Given the description of an element on the screen output the (x, y) to click on. 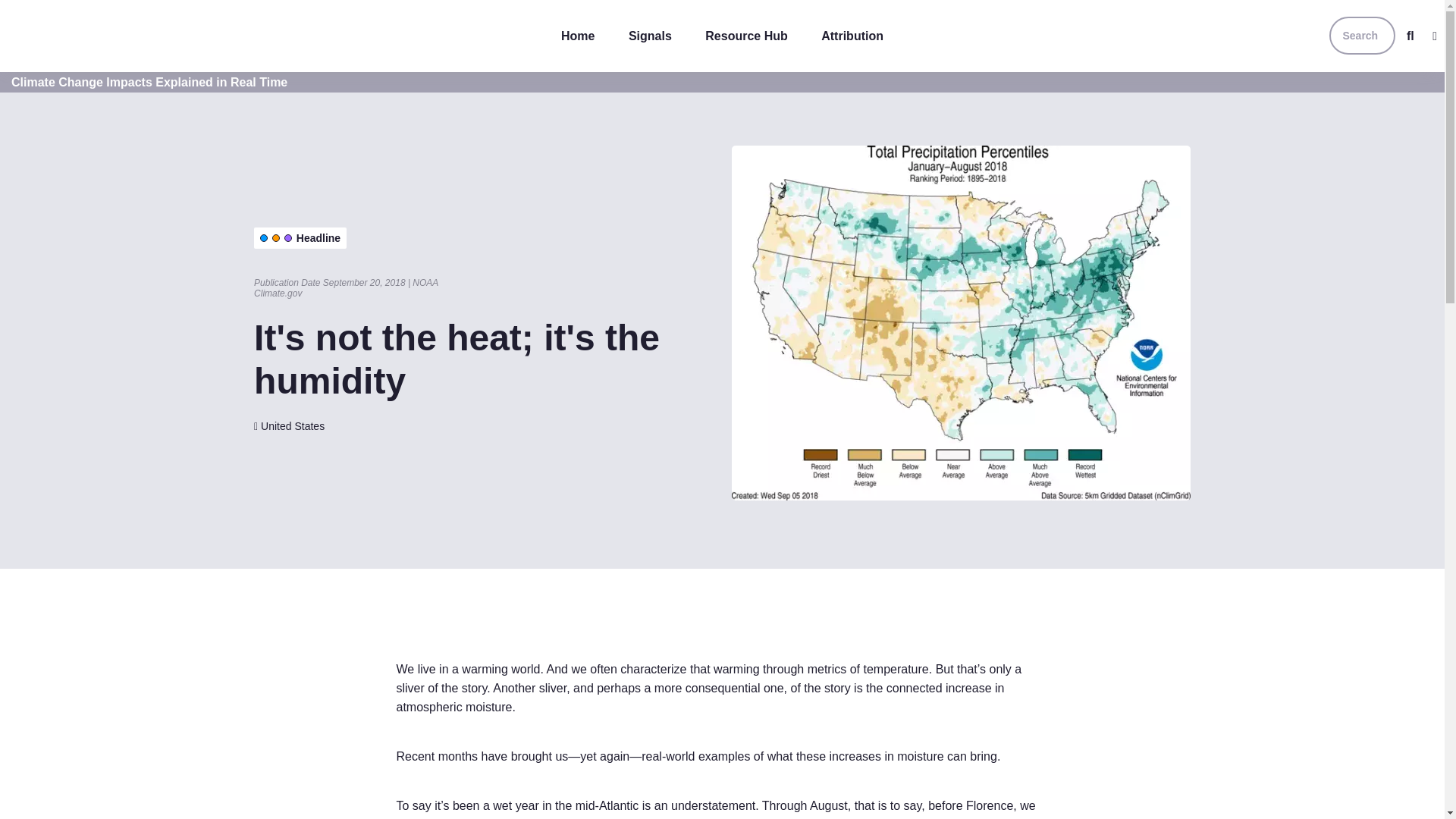
Home (578, 36)
Climate Signals Search (1410, 36)
